Given the description of an element on the screen output the (x, y) to click on. 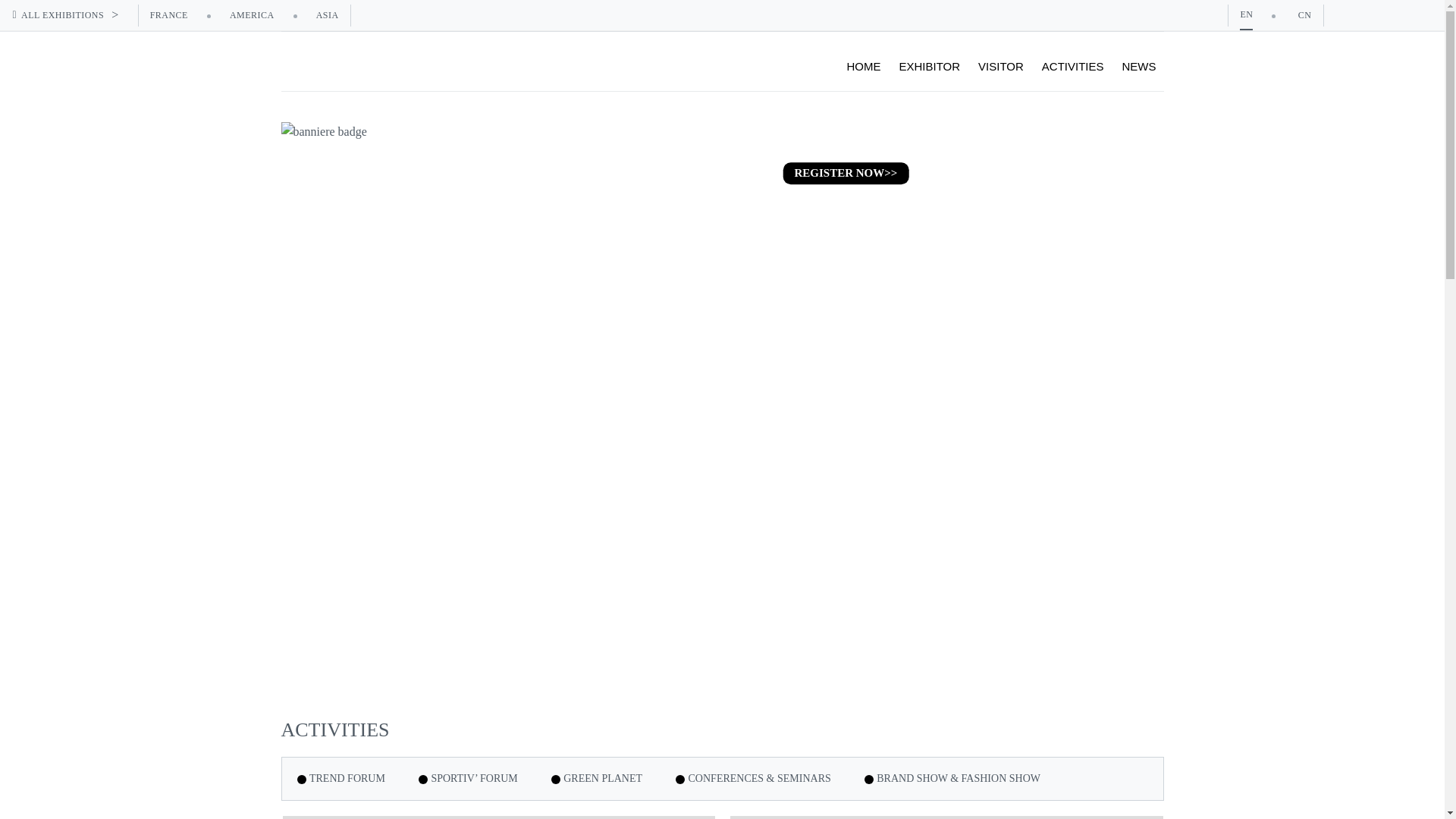
HOME (863, 66)
FRANCE (168, 14)
VISITOR (1000, 66)
ACTIVITIES (1072, 66)
ASIA (327, 14)
EXHIBITOR (929, 66)
ALL EXHIBITIONS (73, 15)
CN (1304, 14)
NEWS (1139, 66)
EN (1246, 14)
